Given the description of an element on the screen output the (x, y) to click on. 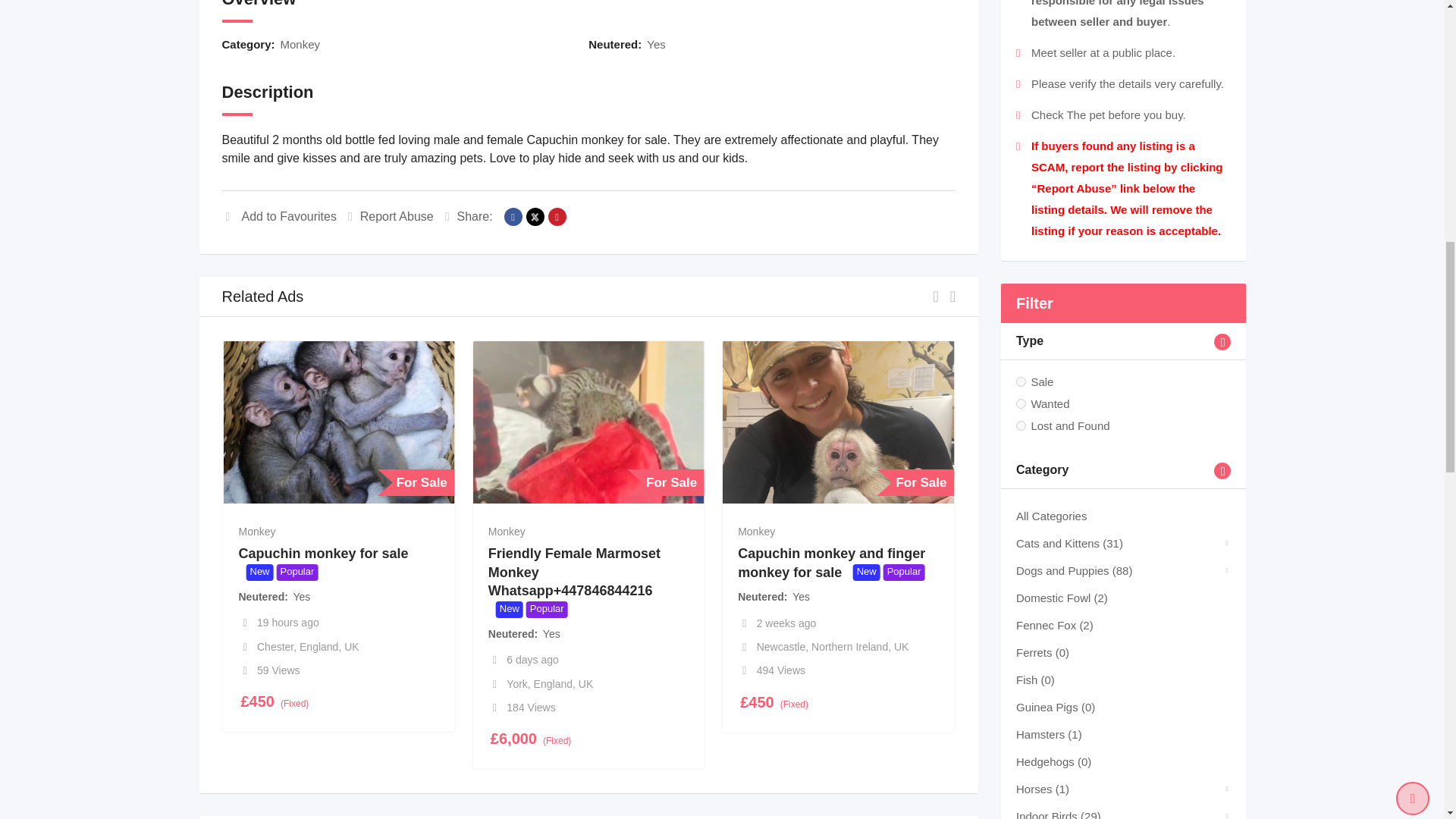
sell (1021, 381)
Capuchin monkey and finger monkey for sale (831, 562)
Add to Favourites (278, 215)
Capuchin monkey for sale (322, 553)
buy (1021, 403)
Monkey (300, 43)
Report Abuse (390, 215)
